Given the description of an element on the screen output the (x, y) to click on. 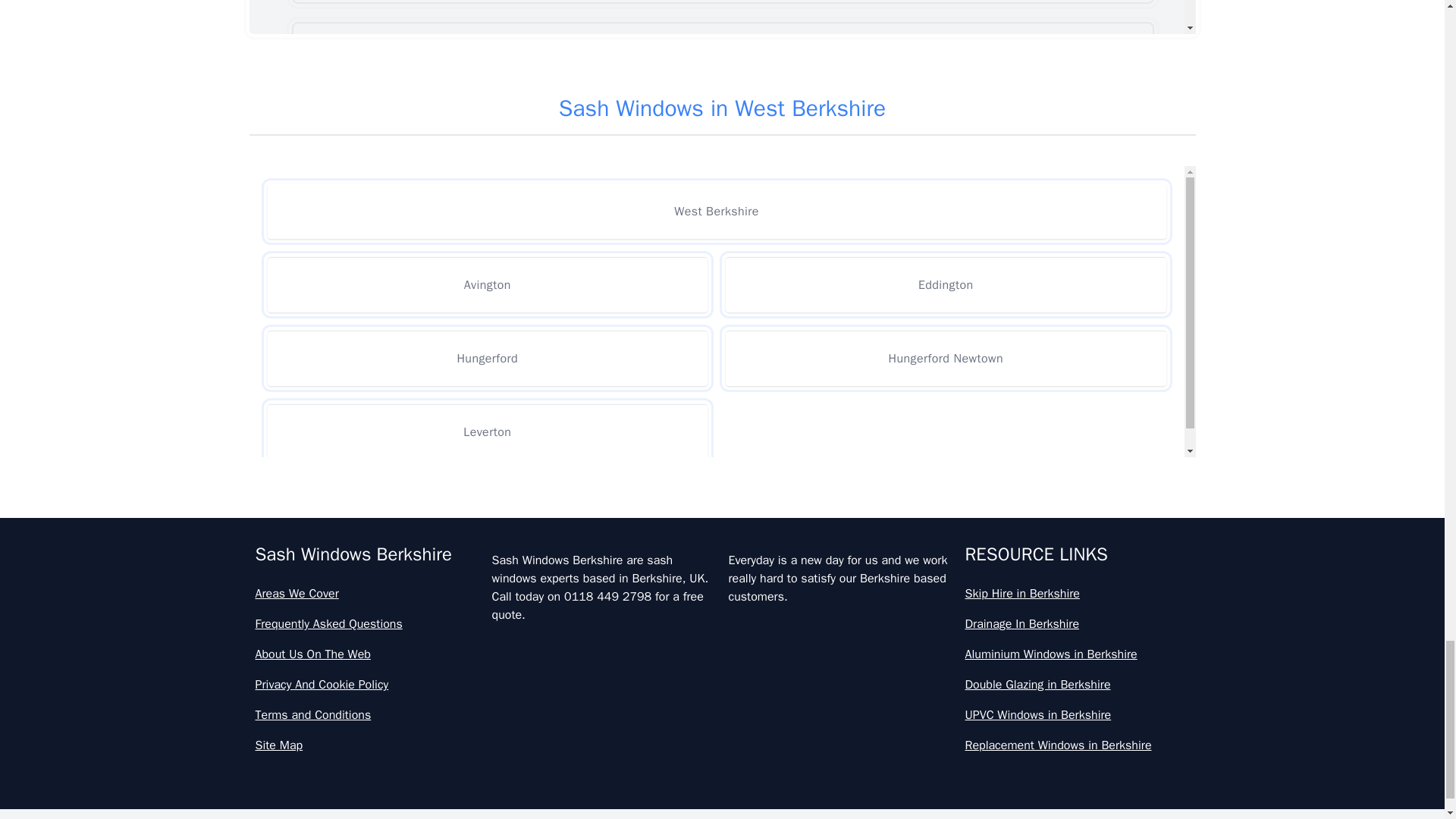
Skip Hire in Berkshire (1076, 593)
How Does A Sash Window Work In Reading (722, 779)
Are Upvc Sash Windows More Expensive In Reading (722, 179)
UPVC Windows in Berkshire (1076, 714)
Drainage In Berkshire (1076, 624)
How Do Upvc Sash Windows Work In Reading (722, 713)
Aluminium Windows in Berkshire (1076, 654)
How Do Sash Window Locks Work In Reading (722, 580)
Are Sash Windows Secure In Reading (722, 112)
